Given the description of an element on the screen output the (x, y) to click on. 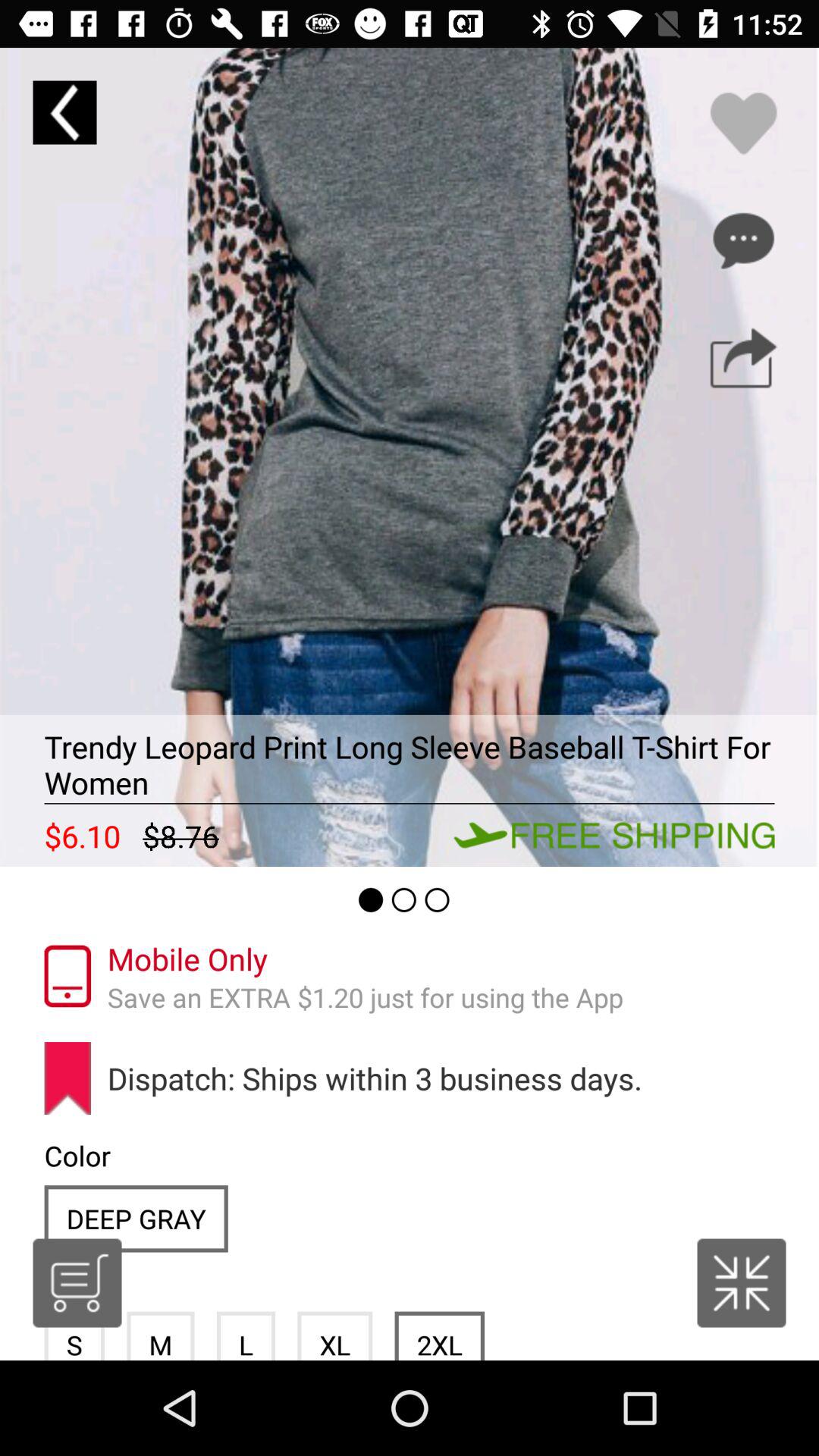
turn off icon to the left of 2xl (334, 1335)
